Given the description of an element on the screen output the (x, y) to click on. 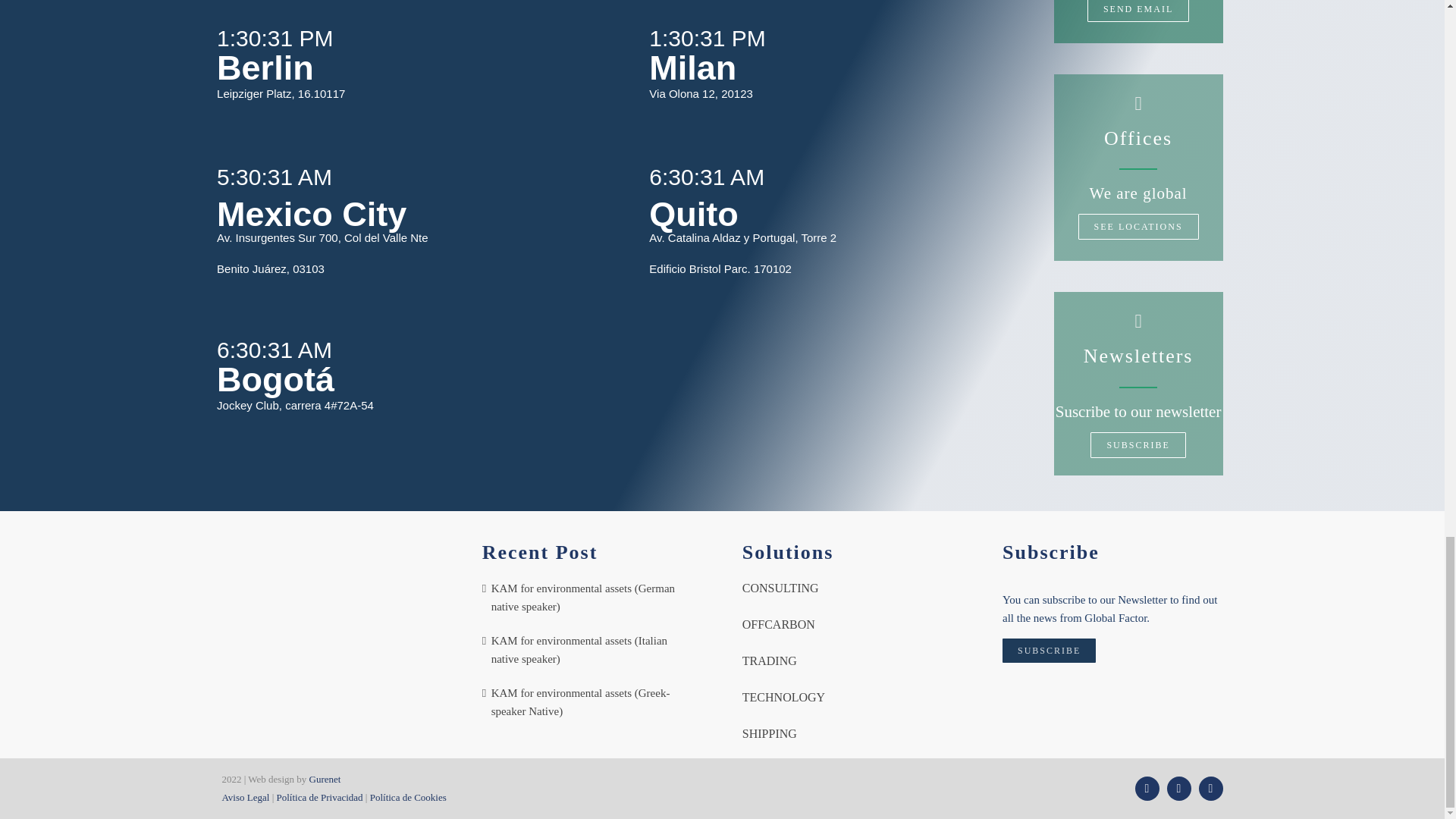
X (1146, 788)
YouTube (1179, 788)
LinkedIn (1210, 788)
